Given the description of an element on the screen output the (x, y) to click on. 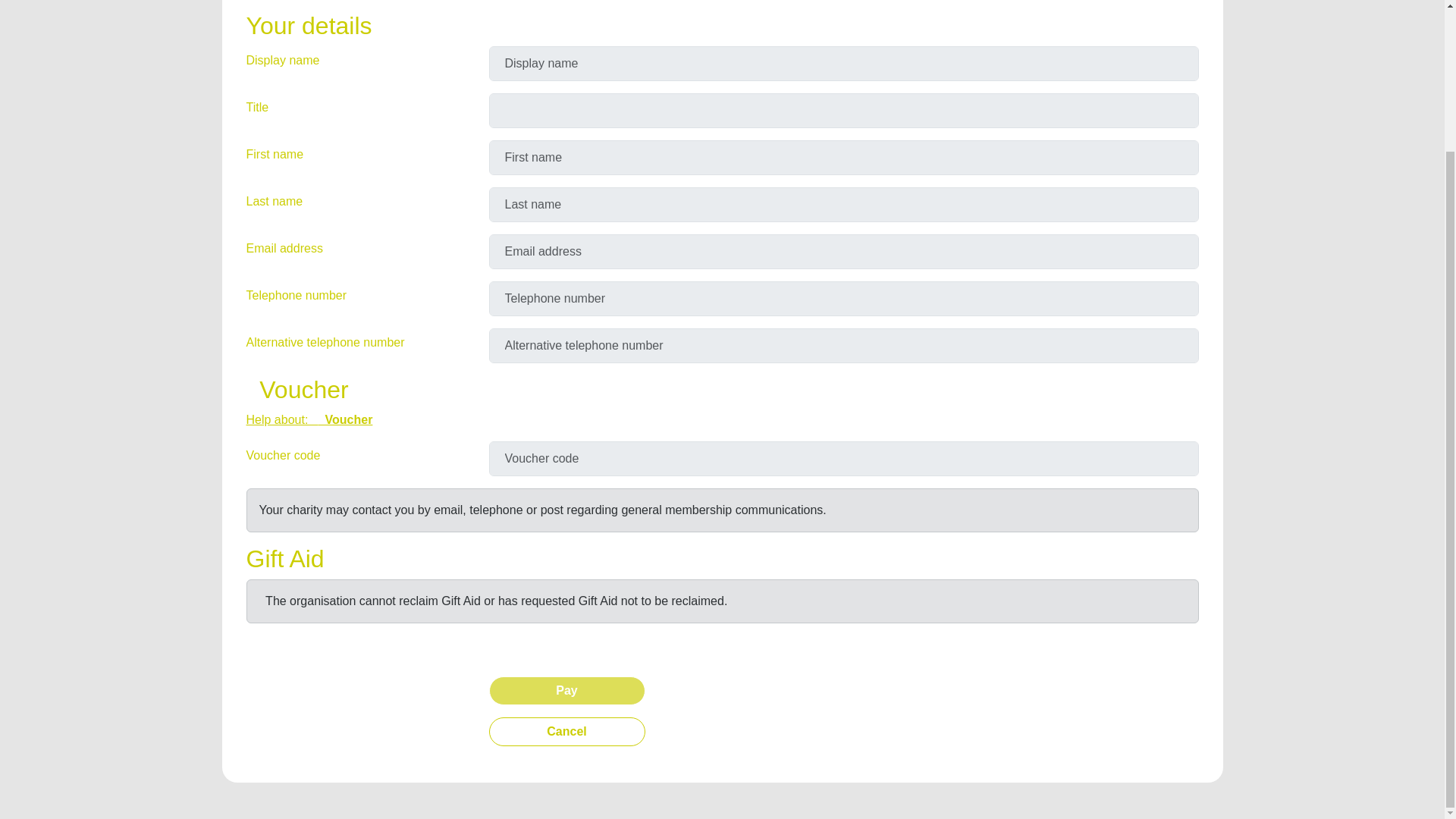
Cancel (566, 731)
Help about:     Voucher (309, 419)
Pay (566, 690)
Pay (566, 690)
